Given the description of an element on the screen output the (x, y) to click on. 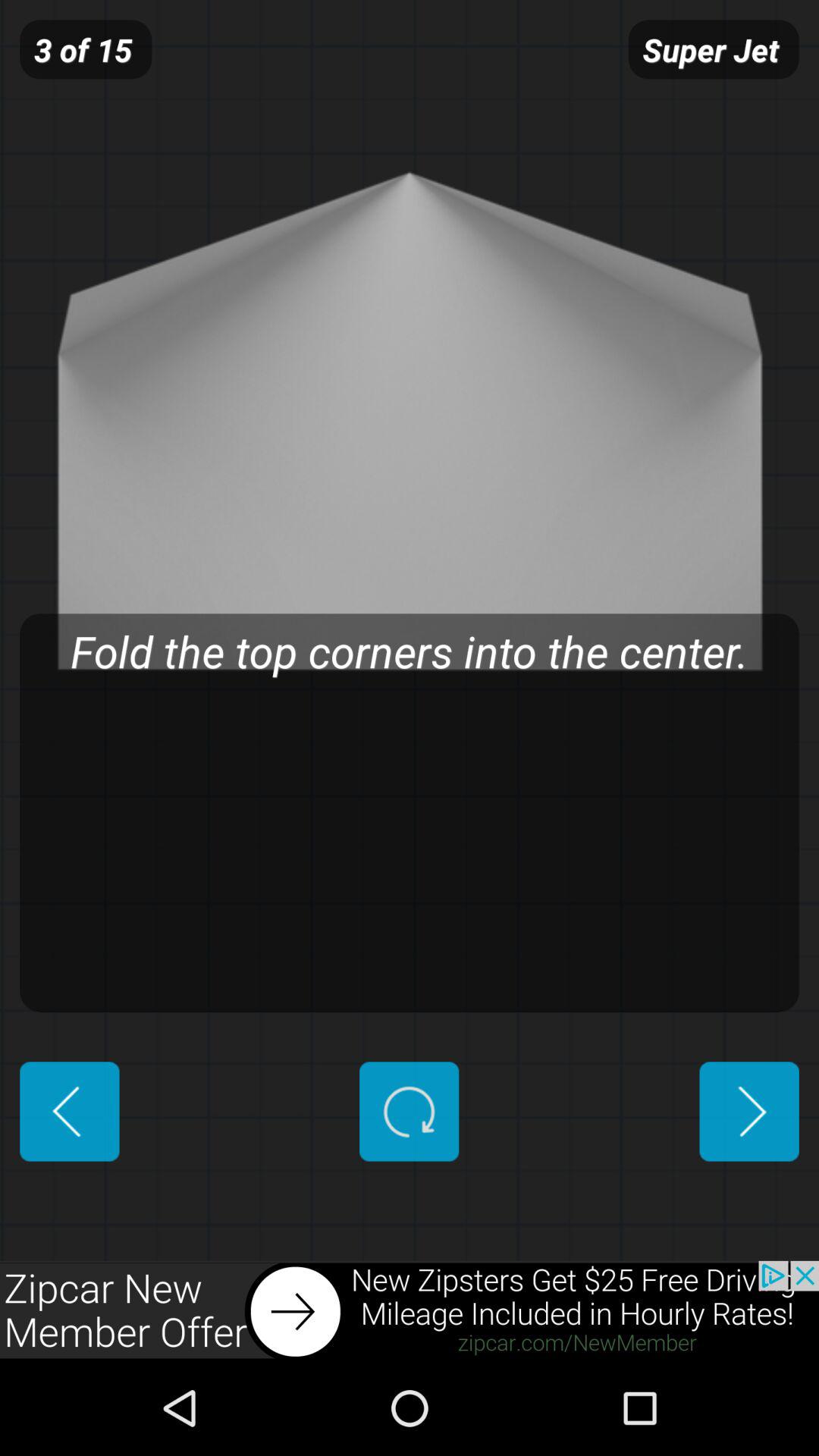
advance to next page (749, 1111)
